Given the description of an element on the screen output the (x, y) to click on. 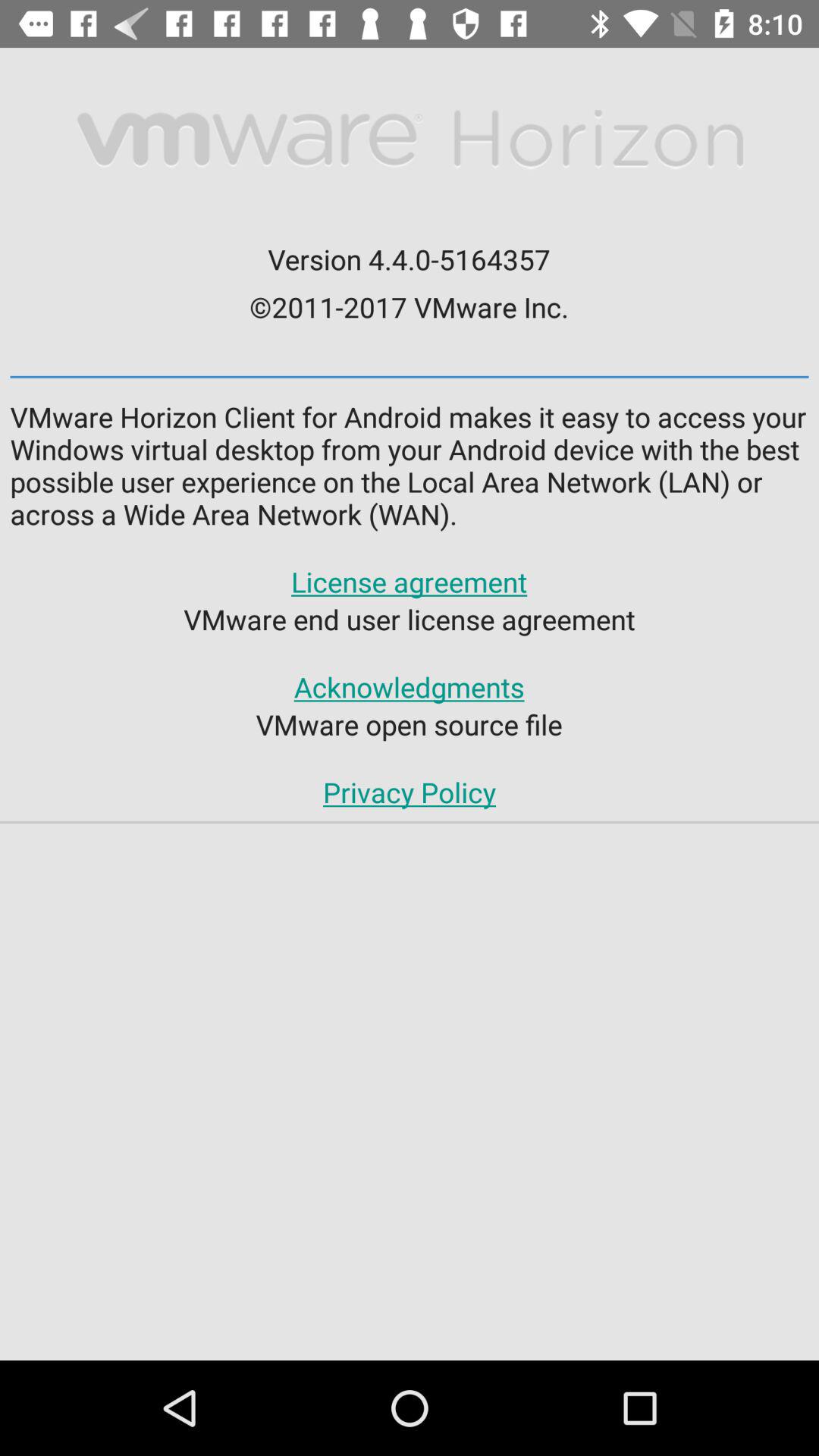
swipe until the vmware horizon client icon (409, 465)
